Given the description of an element on the screen output the (x, y) to click on. 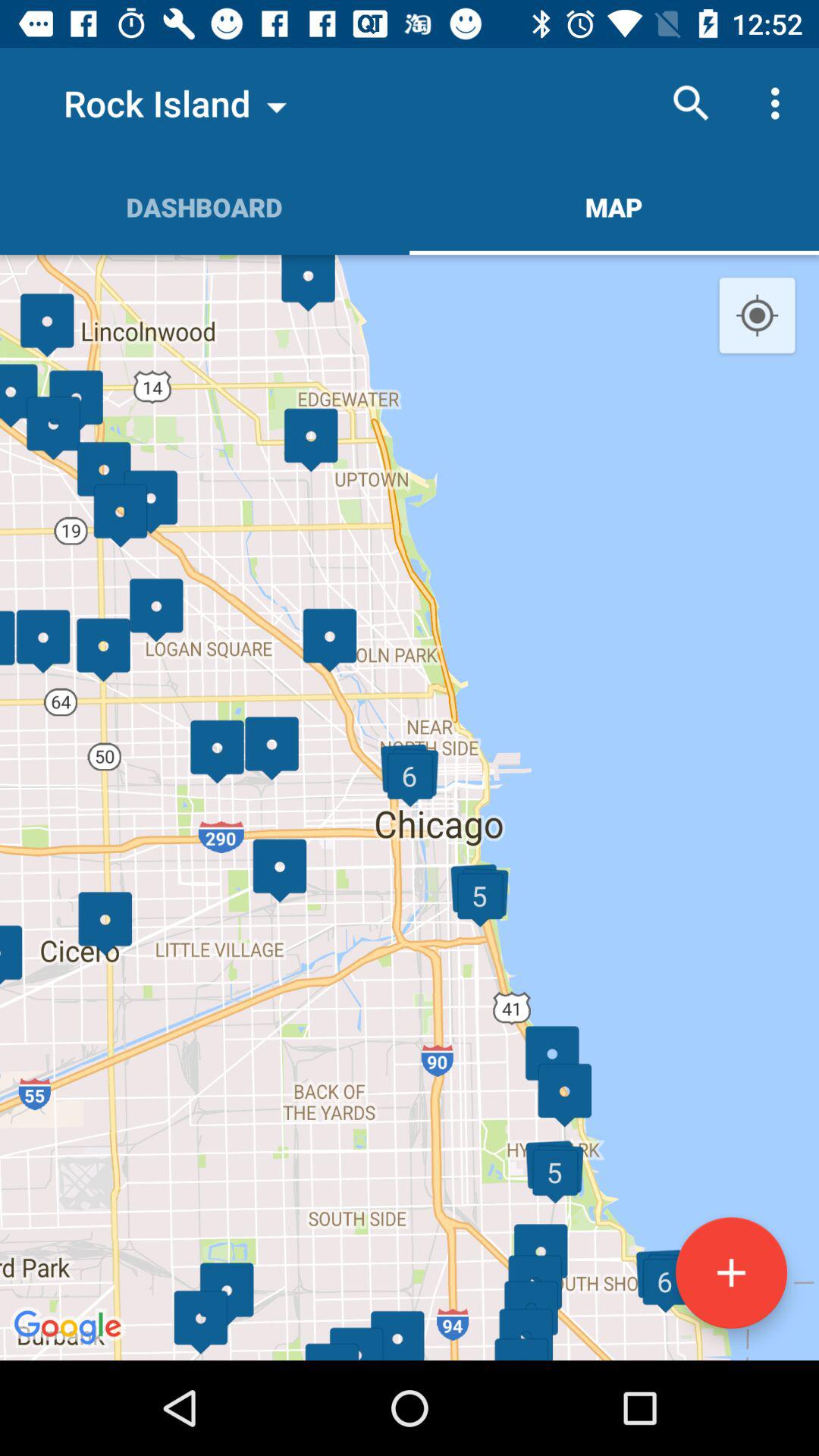
turn off the item below the dashboard icon (409, 807)
